Given the description of an element on the screen output the (x, y) to click on. 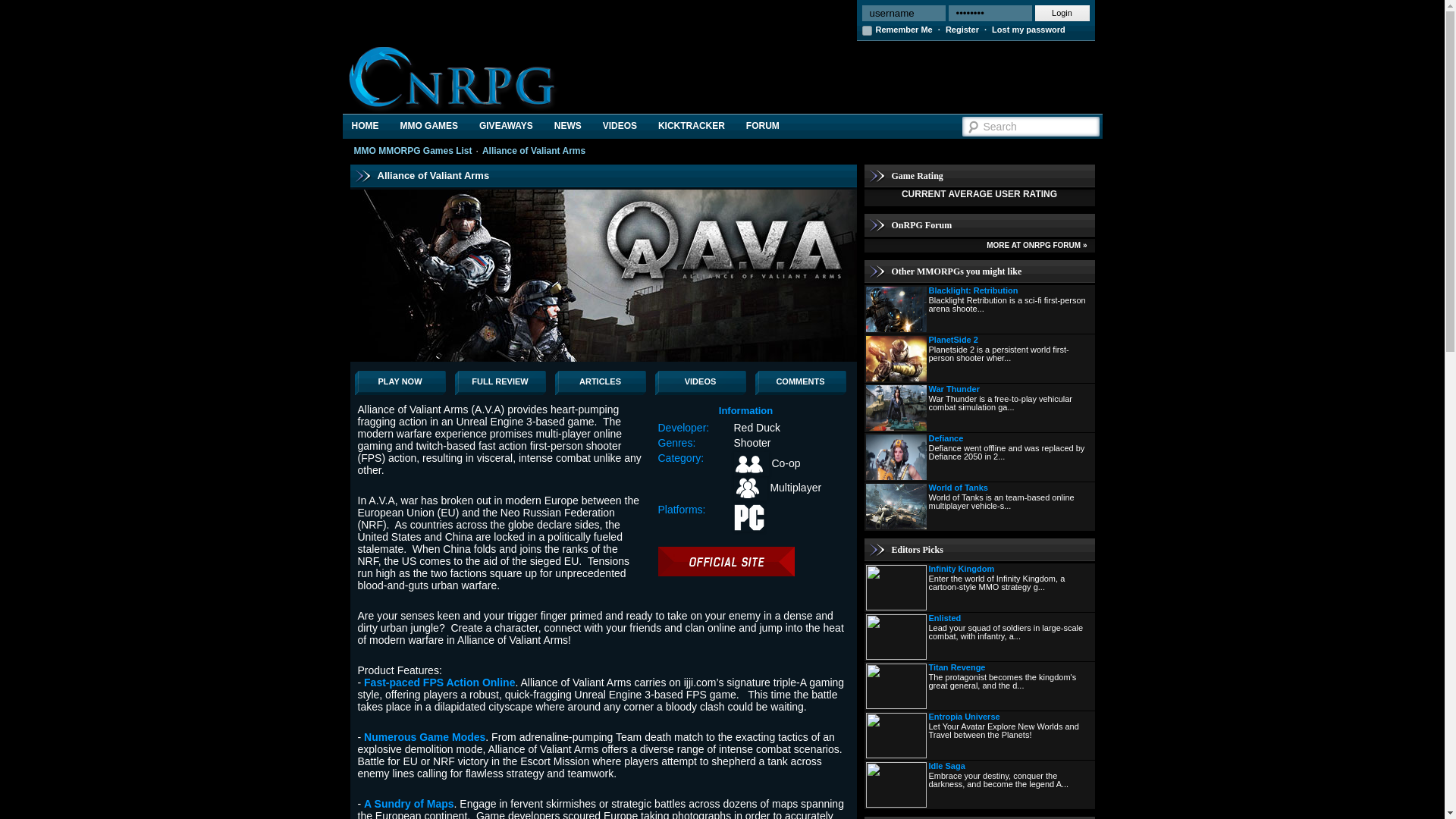
NEWS (567, 125)
Alliance of Valiant Arms (533, 150)
VIDEOS (620, 125)
Go to the MMO MMORPG Games List category archives. (412, 150)
ARTICLES (600, 382)
MMO MMORPG Games List (412, 150)
MMO GAMES (428, 125)
VIDEOS (700, 382)
HOME (365, 125)
GIVEAWAYS (505, 125)
